Given the description of an element on the screen output the (x, y) to click on. 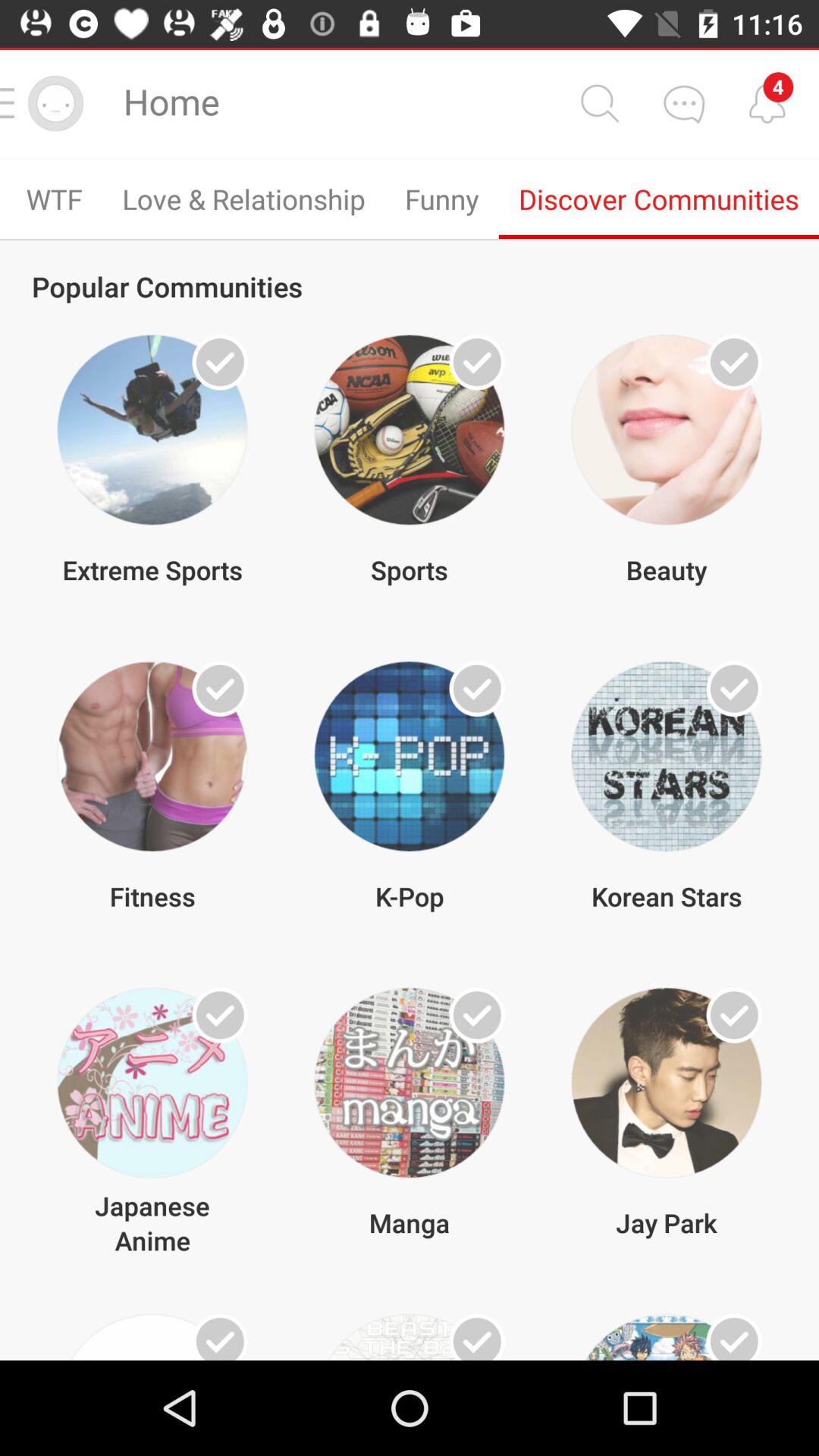
check interest box (734, 1336)
